Given the description of an element on the screen output the (x, y) to click on. 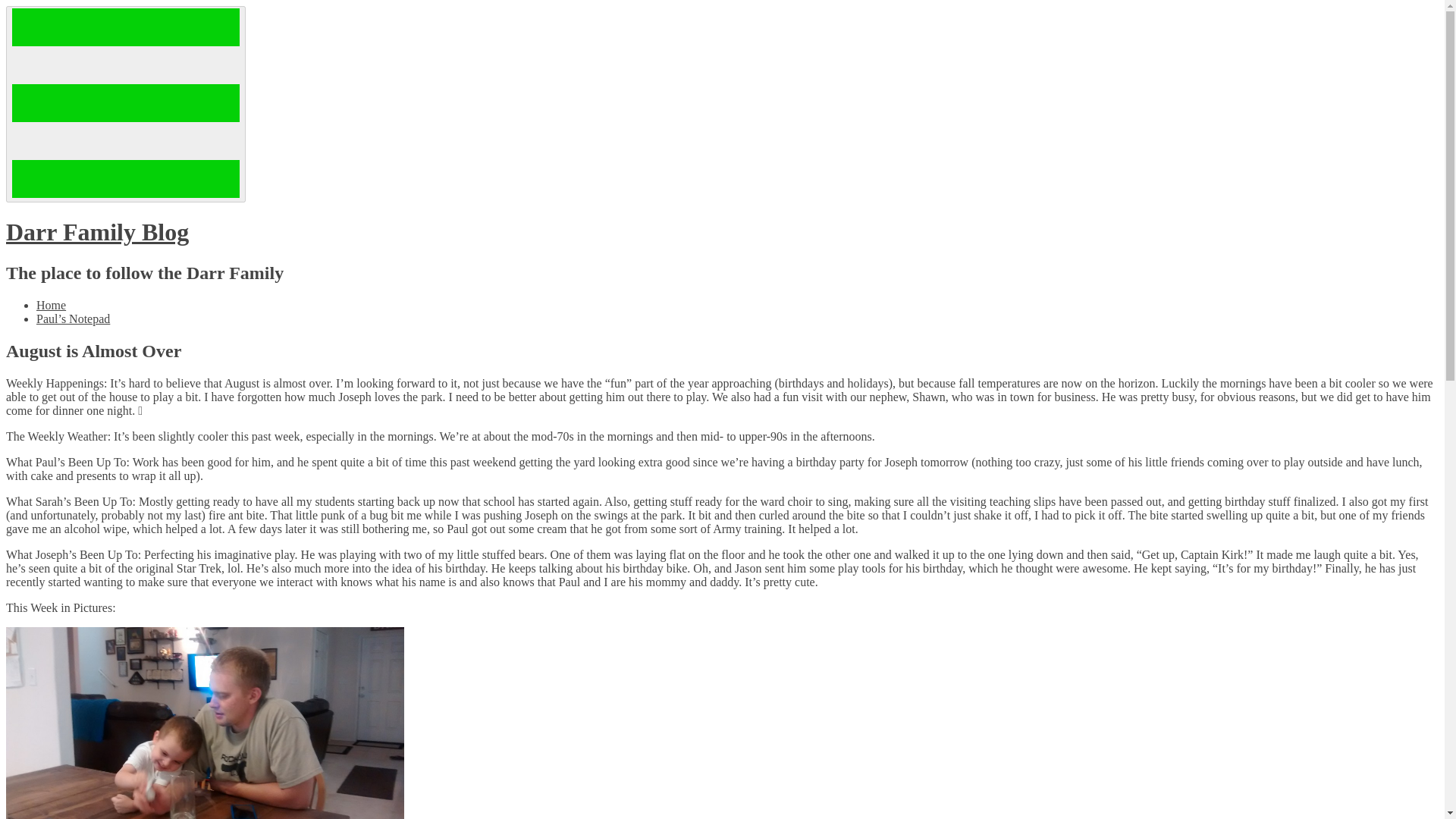
Home (50, 305)
Darr Family Blog (97, 231)
Darr Family Blog (97, 231)
Show sidebar (125, 103)
